Given the description of an element on the screen output the (x, y) to click on. 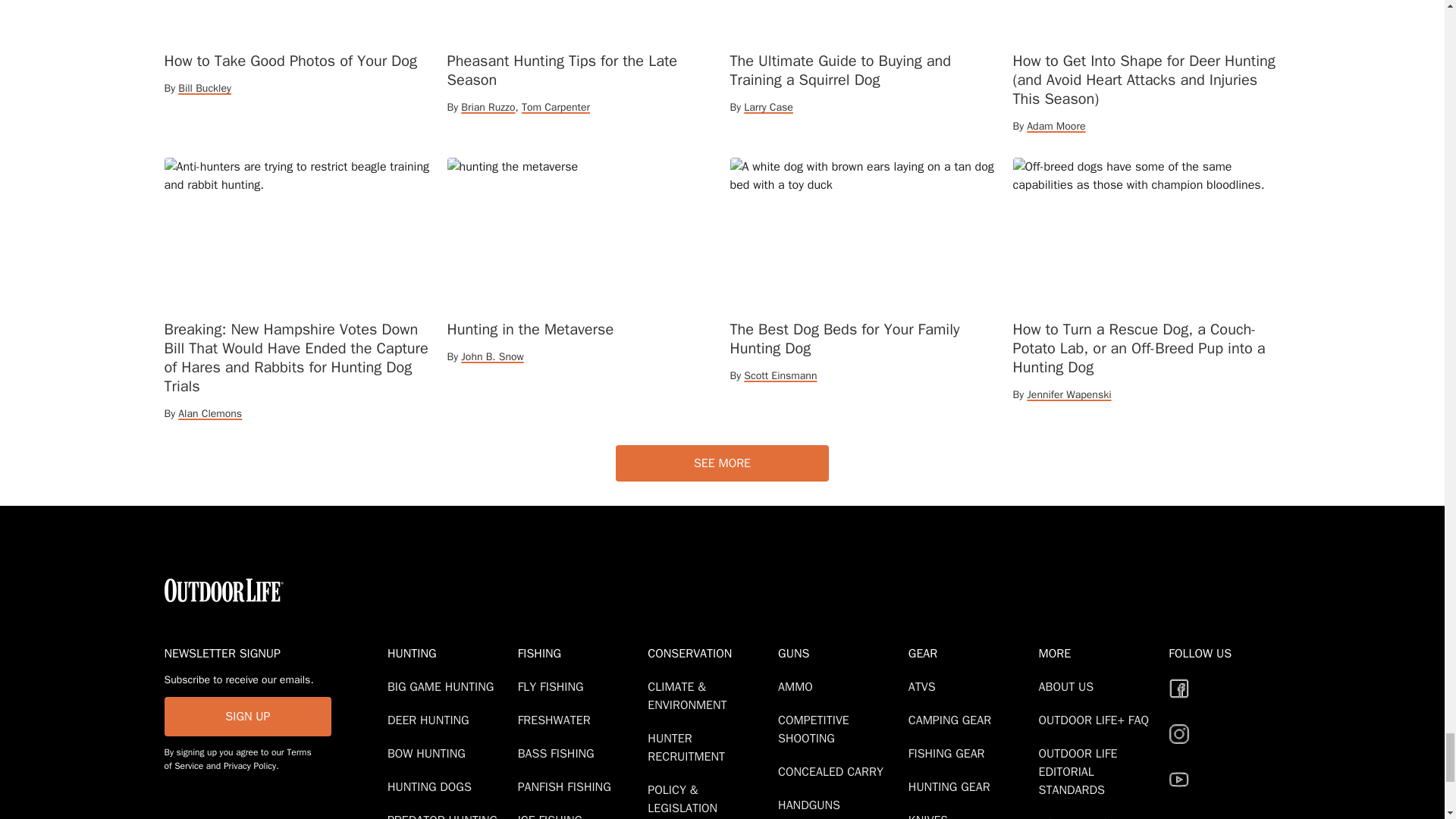
Fly Fishing (553, 686)
Fishing (580, 653)
Deer Hunting (431, 720)
Hunting (449, 653)
Conservation (709, 653)
Big Game Hunting (443, 686)
